Given the description of an element on the screen output the (x, y) to click on. 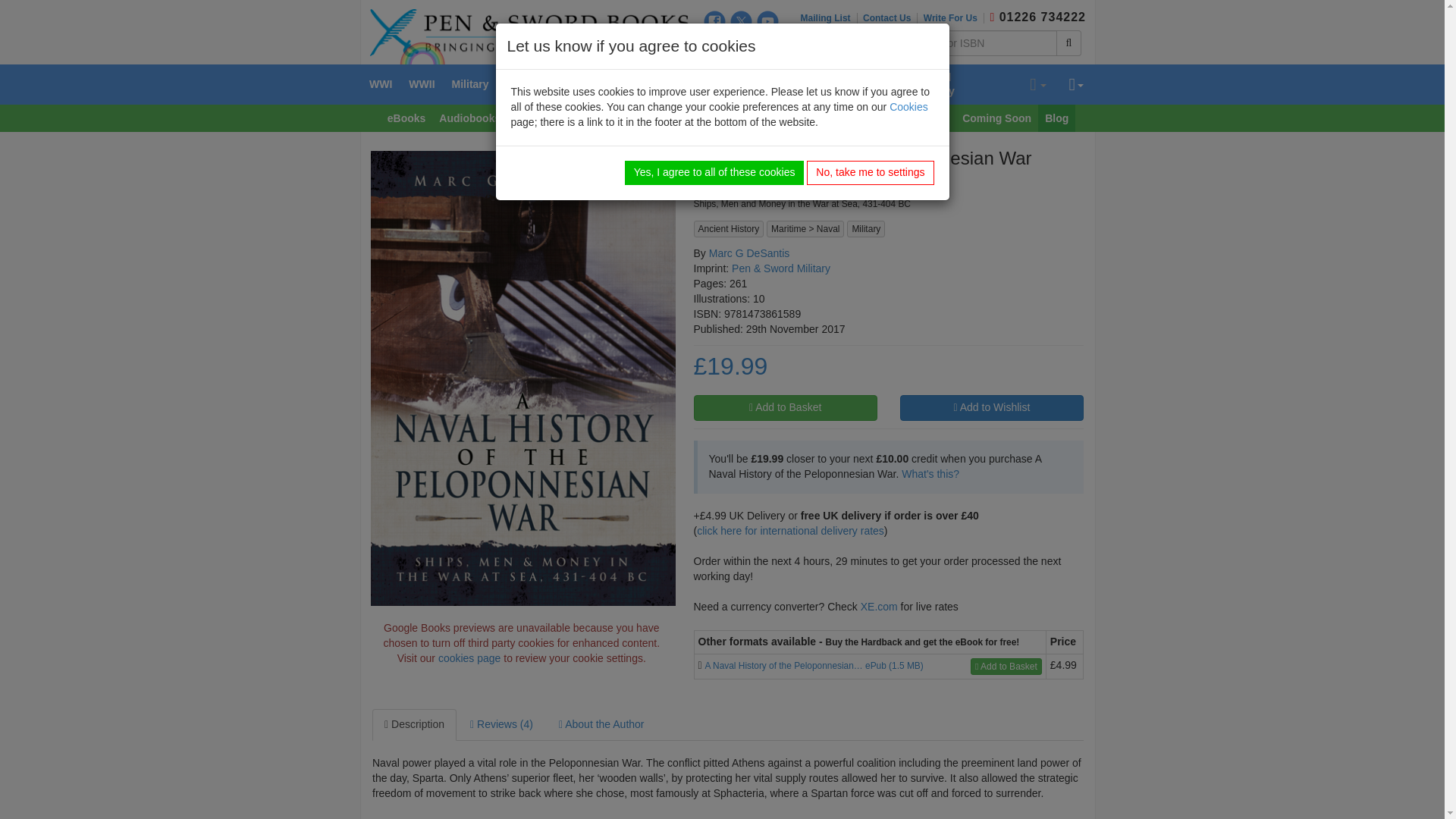
Instagram (714, 45)
Write For Us (953, 18)
TikTok (741, 45)
X (741, 21)
YouTube (767, 21)
NetGalley (767, 45)
Facebook (714, 21)
ePub (699, 665)
Your basket is empty (1037, 84)
Contact Us (890, 18)
Order Hotline (992, 17)
Mailing List (828, 18)
